Given the description of an element on the screen output the (x, y) to click on. 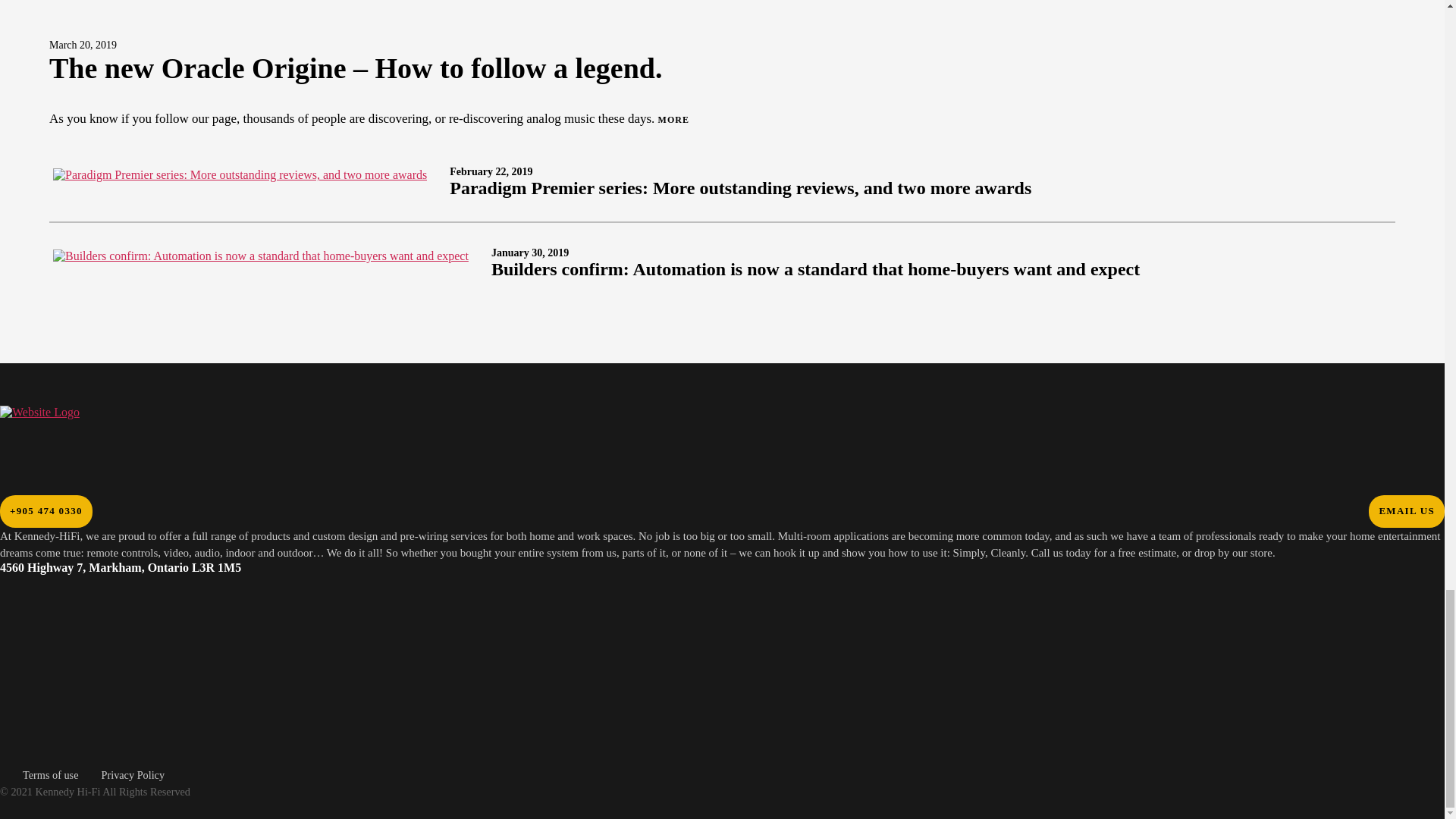
MORE (673, 119)
